Given the description of an element on the screen output the (x, y) to click on. 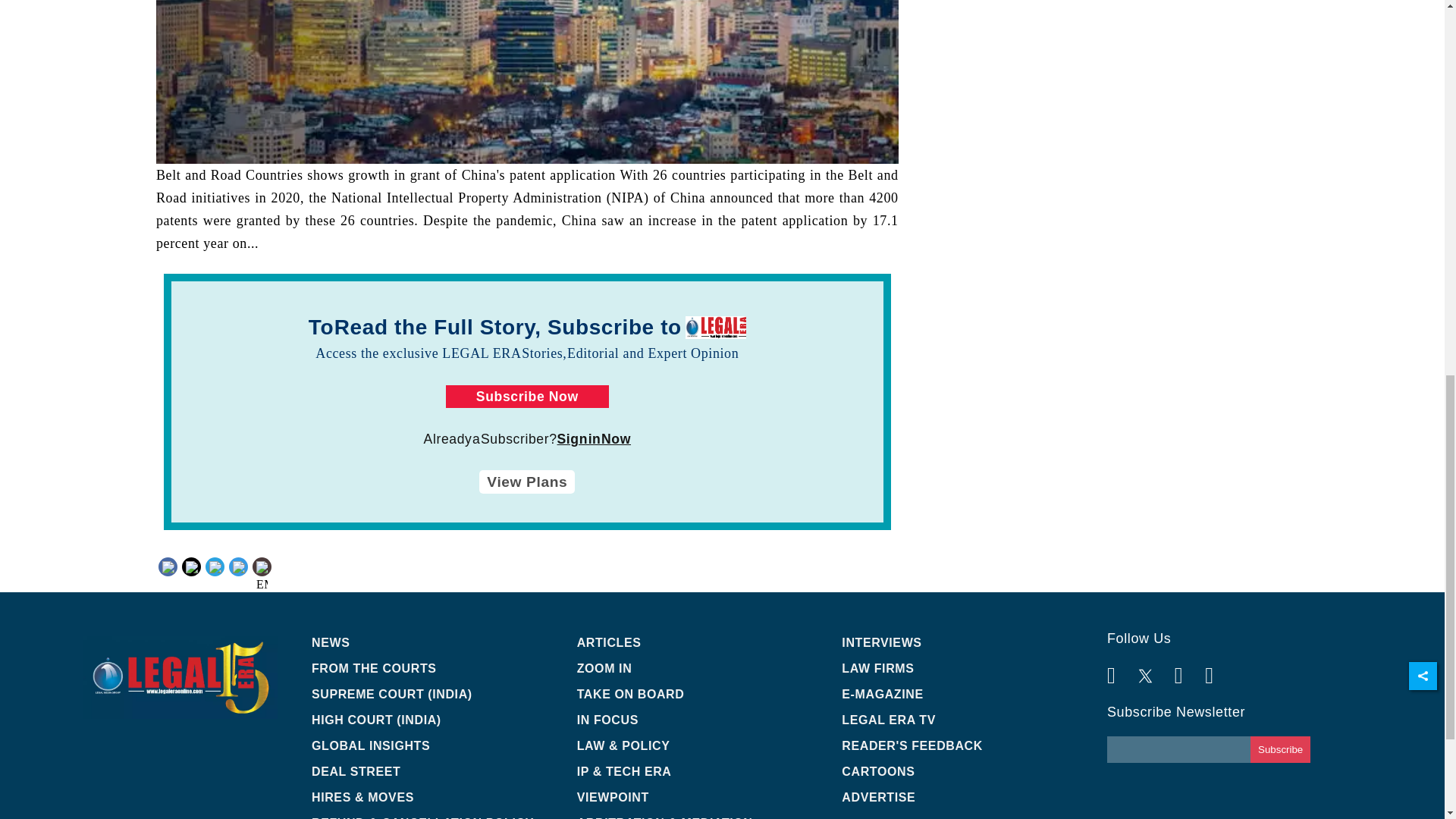
Subscribe (1280, 749)
Facebook (196, 565)
LinkedIn (240, 565)
linkedin (239, 578)
facebook (195, 578)
twitter (213, 578)
Twitter (214, 565)
